Given the description of an element on the screen output the (x, y) to click on. 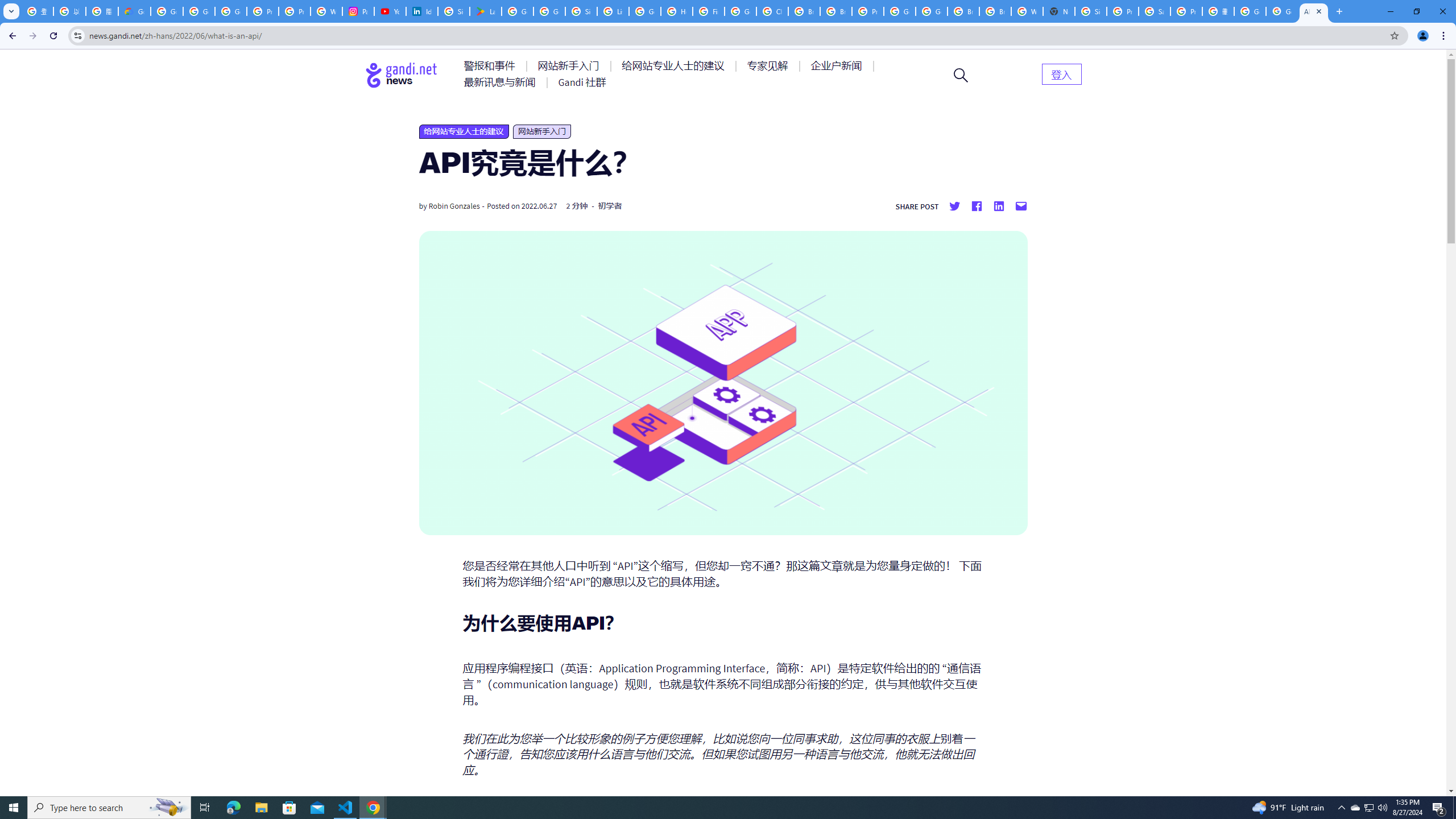
Google Cloud Platform (931, 11)
Go to home (401, 75)
AutomationID: menu-item-77762 (570, 65)
Sign in - Google Accounts (453, 11)
How do I create a new Google Account? - Google Account Help (676, 11)
AutomationID: menu-item-77761 (492, 65)
AutomationID: menu-item-77767 (581, 82)
